Given the description of an element on the screen output the (x, y) to click on. 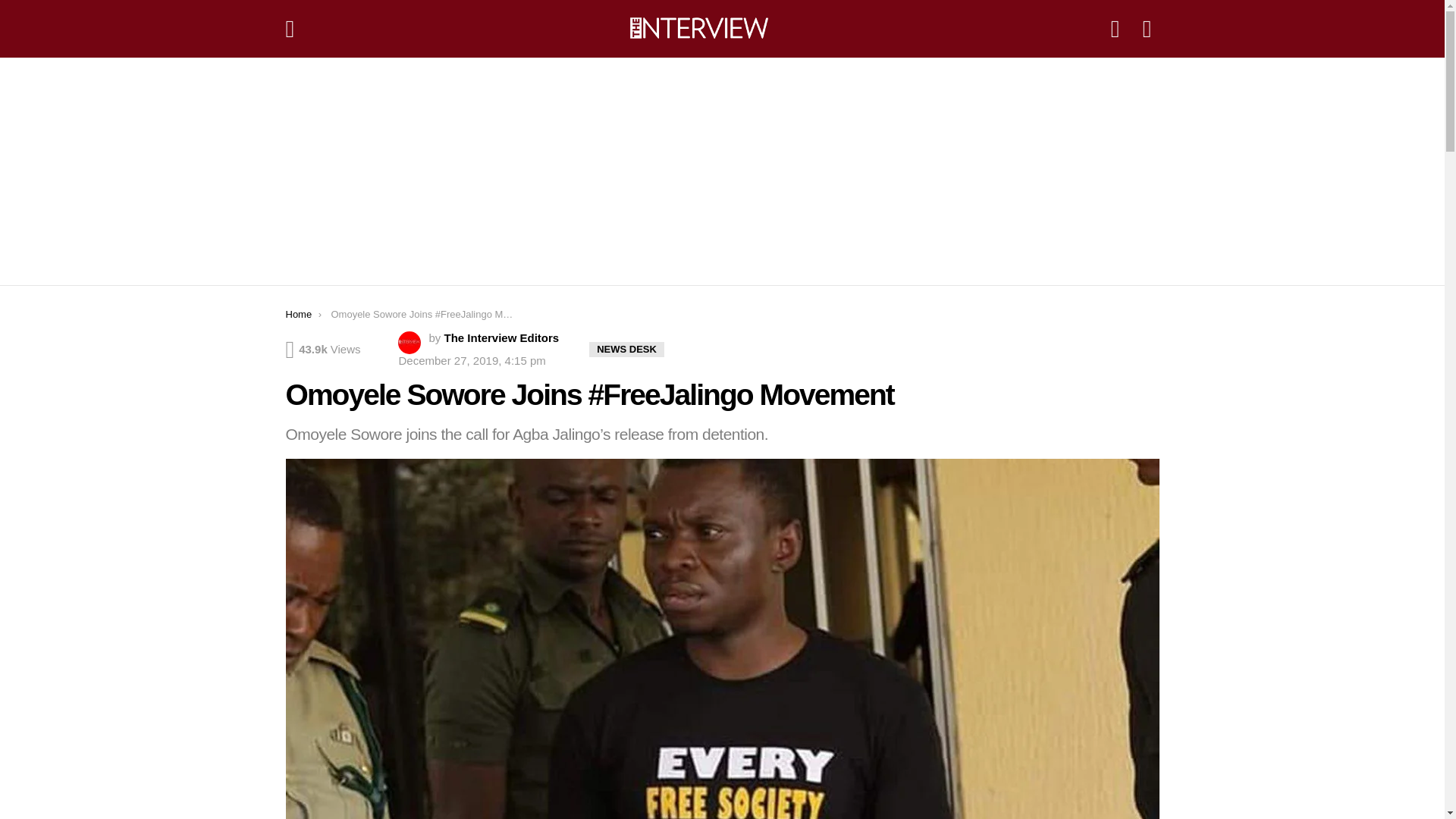
Home (298, 314)
NEWS DESK (626, 349)
The Interview Editors (501, 337)
Posts by The Interview Editors (501, 337)
